Given the description of an element on the screen output the (x, y) to click on. 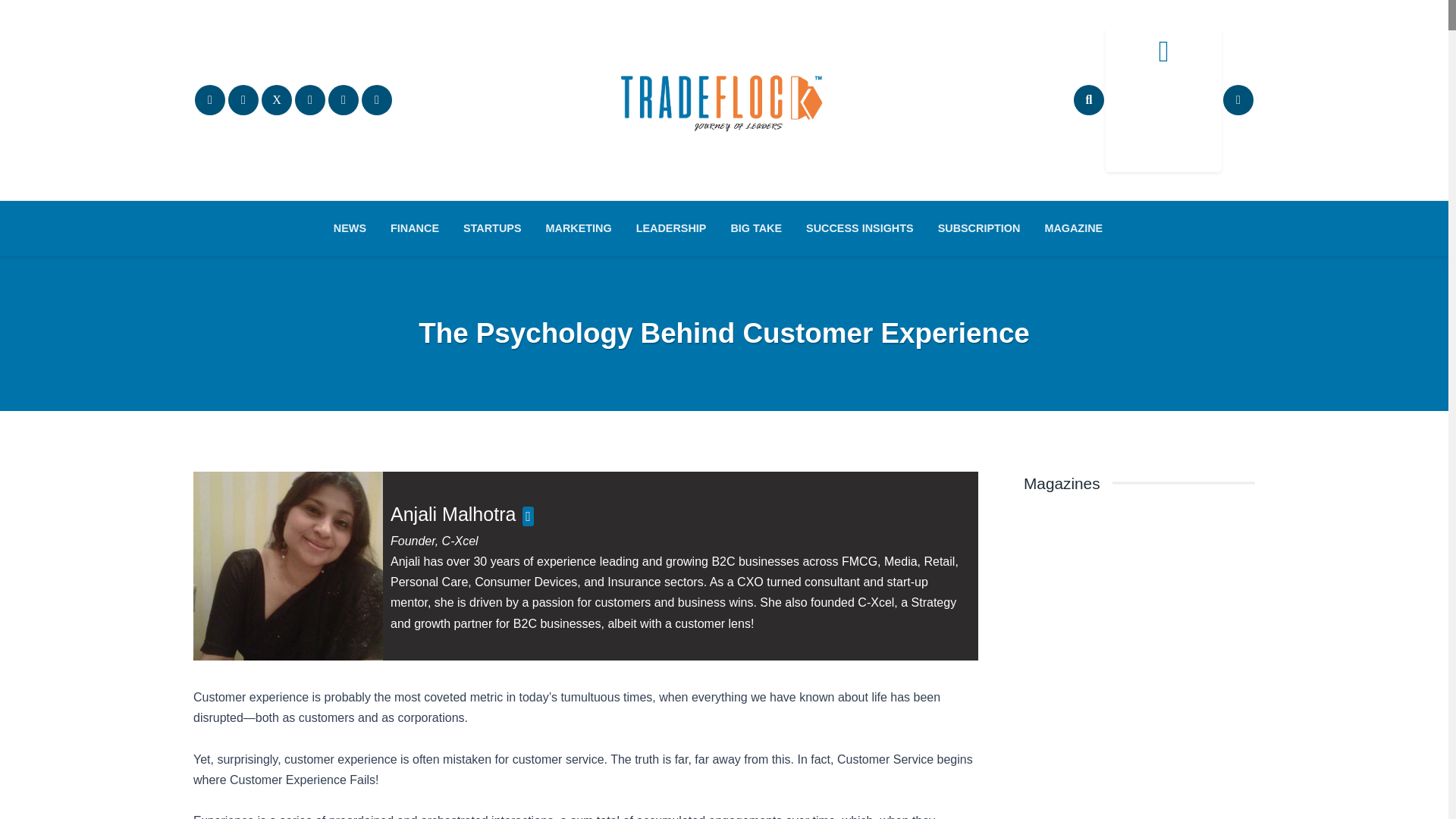
BIG TAKE (755, 227)
STARTUPS (492, 227)
SUBSCRIPTION (979, 227)
FINANCE (414, 227)
MAGAZINE (1073, 227)
LEADERSHIP (671, 227)
MARKETING (579, 227)
SUCCESS INSIGHTS (859, 227)
